Given the description of an element on the screen output the (x, y) to click on. 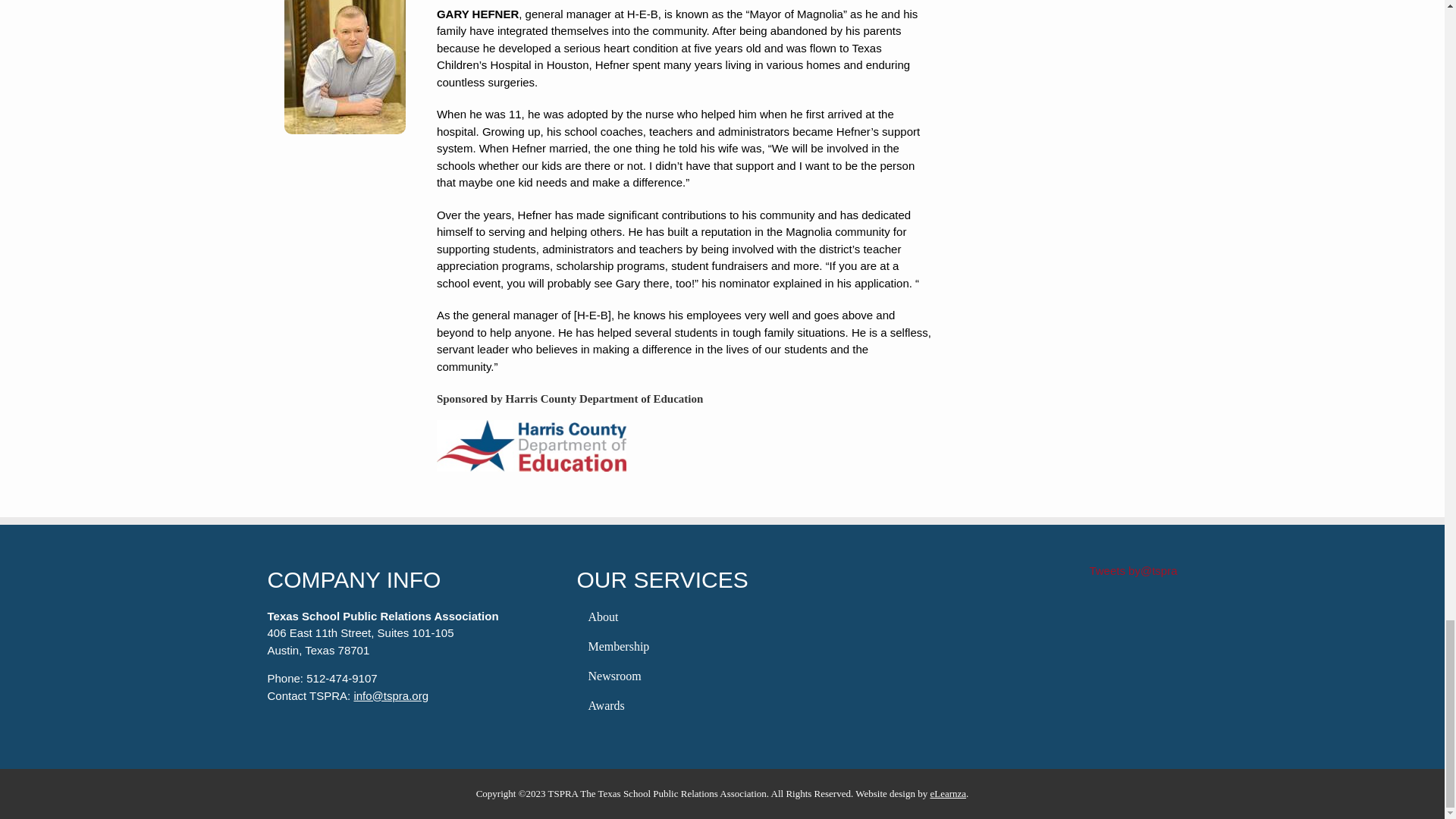
Gary-Hefner (344, 67)
